Given the description of an element on the screen output the (x, y) to click on. 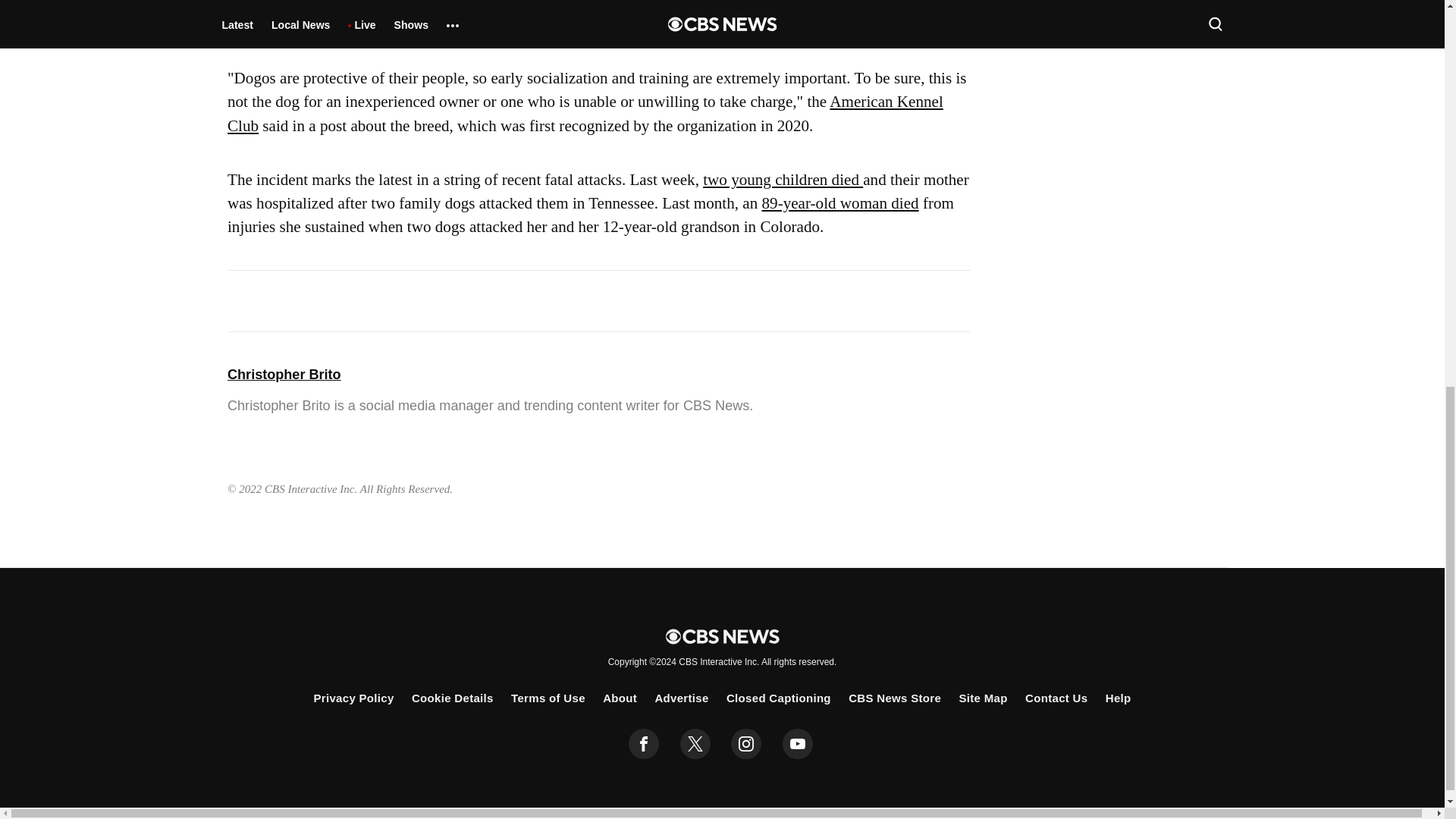
twitter (694, 743)
youtube (797, 743)
instagram (745, 743)
facebook (643, 743)
